Given the description of an element on the screen output the (x, y) to click on. 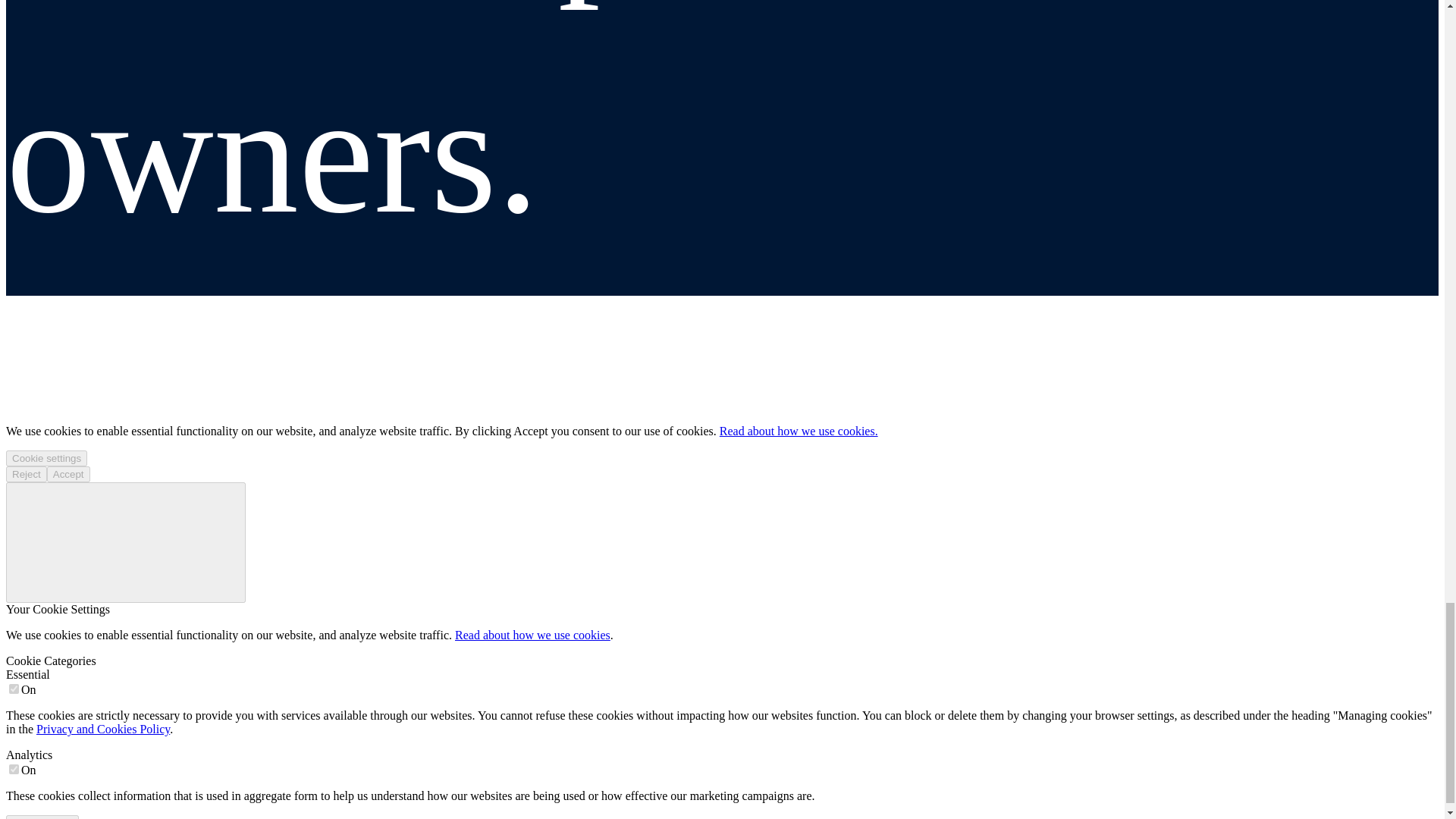
Read about how we use cookies. (798, 431)
Accept (68, 474)
Cookie settings (46, 458)
on (13, 688)
Reject (25, 474)
Privacy and Cookies Policy (103, 728)
Read about how we use cookies (532, 634)
on (13, 768)
